Given the description of an element on the screen output the (x, y) to click on. 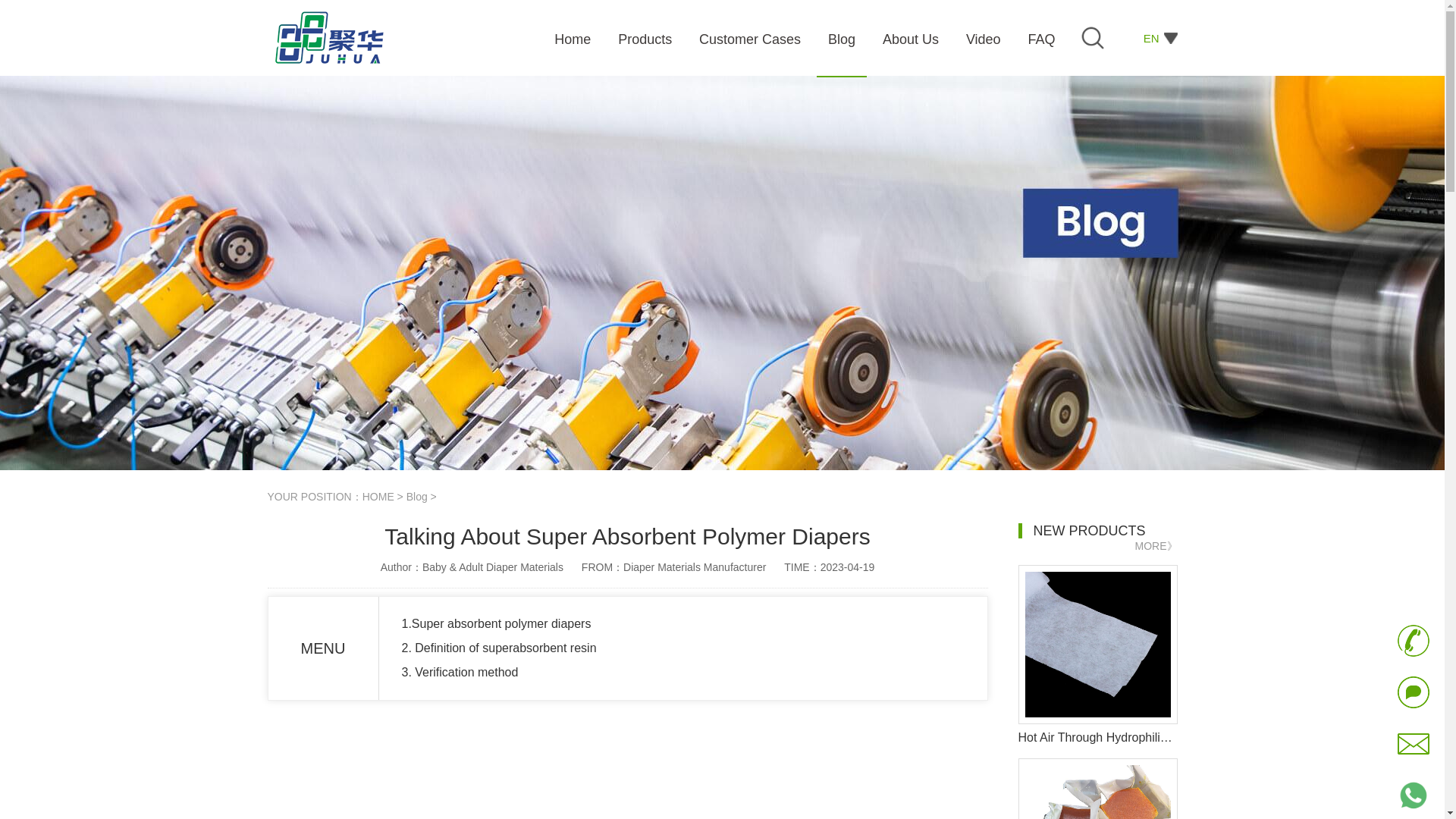
Customer Cases (751, 43)
Blog (417, 496)
HOME (378, 496)
3. Verification method (459, 671)
2. Definition of superabsorbent resin (498, 647)
1.Super absorbent polymer diapers (496, 623)
About Us (912, 43)
